Given the description of an element on the screen output the (x, y) to click on. 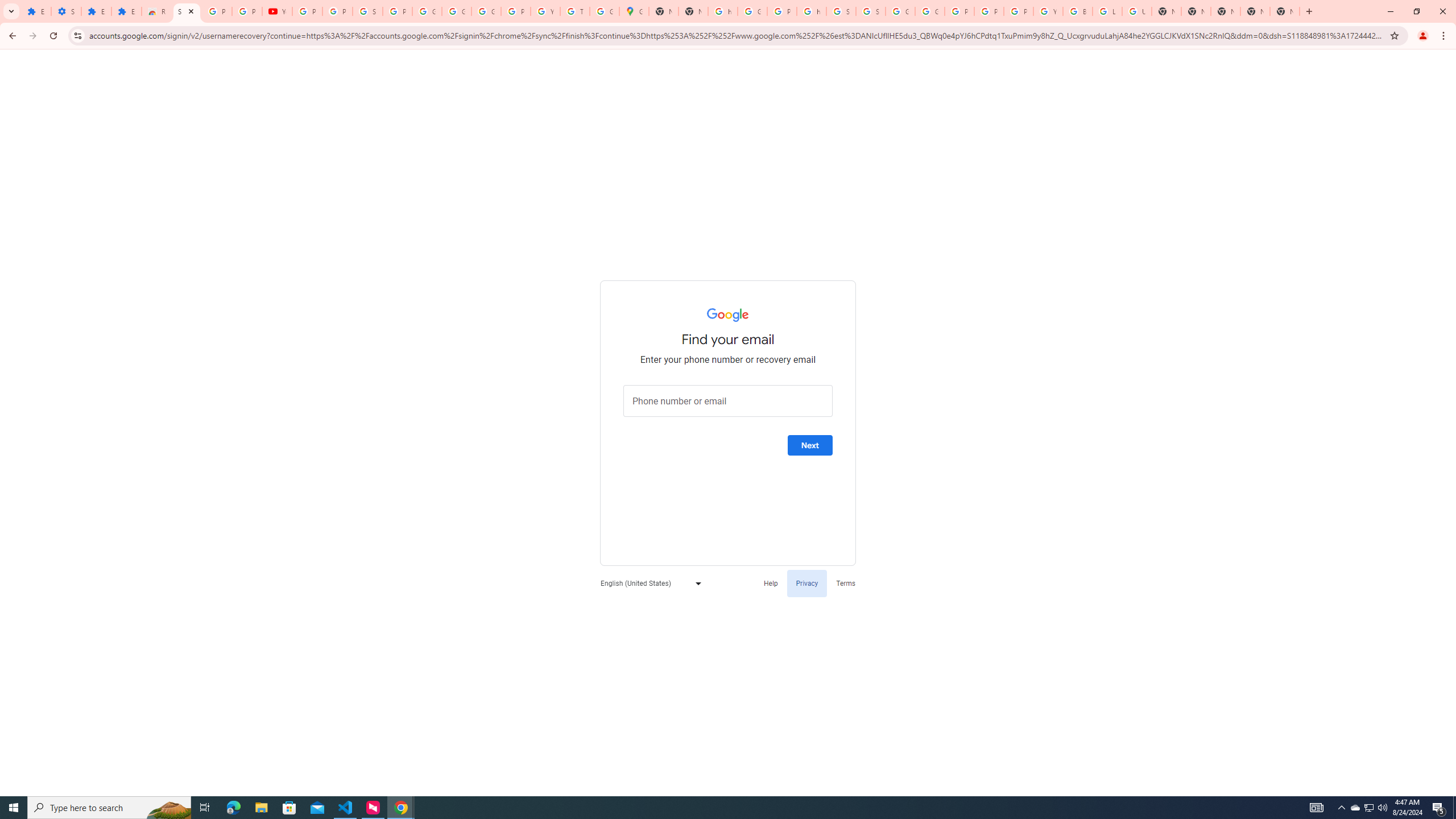
New Tab (1284, 11)
New Tab (1195, 11)
Sign in - Google Accounts (367, 11)
Terms (845, 583)
YouTube (1047, 11)
YouTube (544, 11)
